Given the description of an element on the screen output the (x, y) to click on. 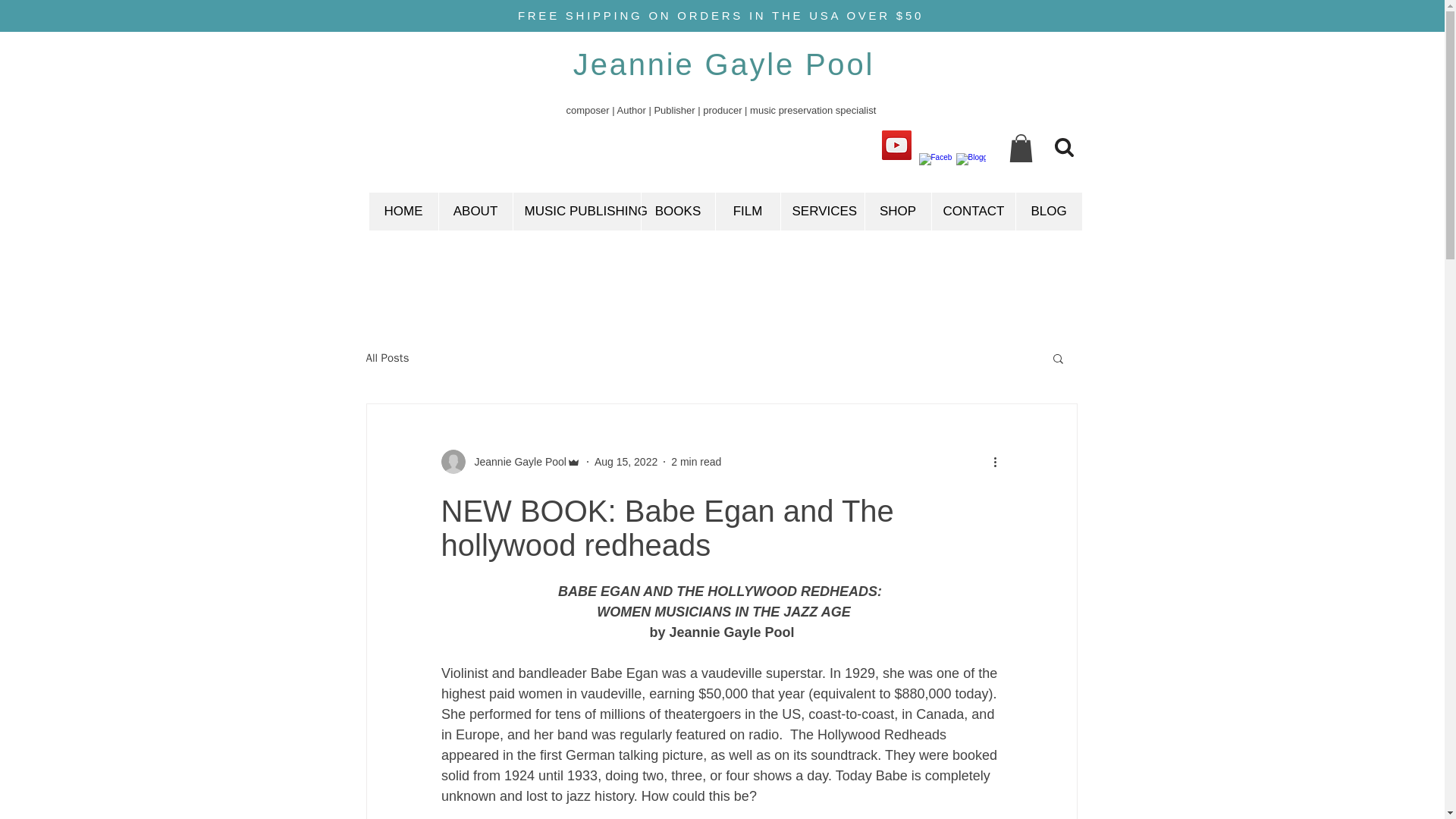
BLOG (1047, 211)
Aug 15, 2022 (626, 460)
HOME (403, 211)
BOOKS (677, 211)
2 min read (695, 460)
SERVICES (820, 211)
SHOP (897, 211)
Jeannie Gayle Pool (510, 461)
FILM (746, 211)
All Posts (387, 357)
